Given the description of an element on the screen output the (x, y) to click on. 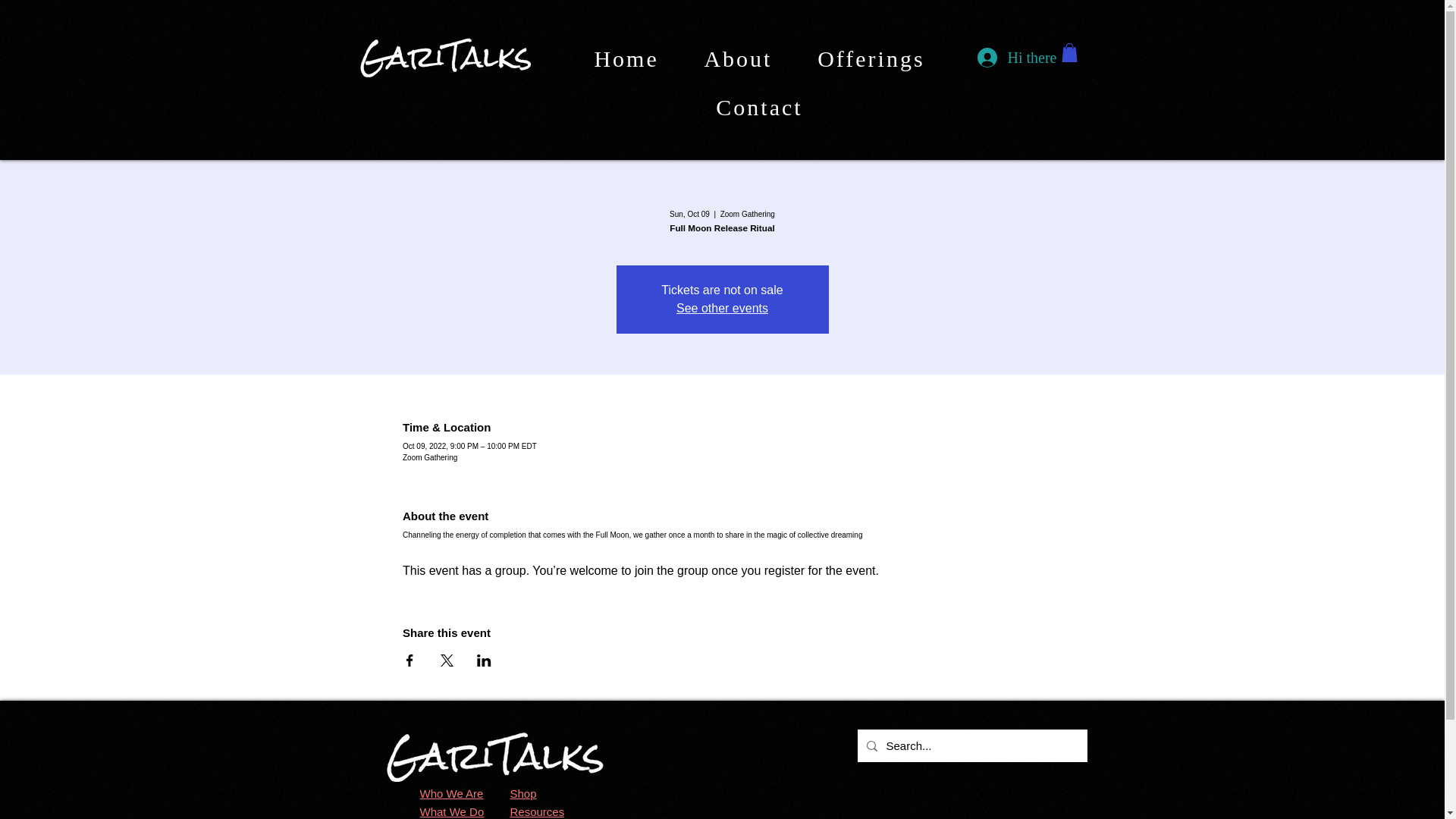
Hi there (1010, 57)
Who We Are (451, 793)
Offerings (870, 59)
Home (626, 59)
Contact (759, 107)
See other events (722, 308)
About (738, 59)
